Given the description of an element on the screen output the (x, y) to click on. 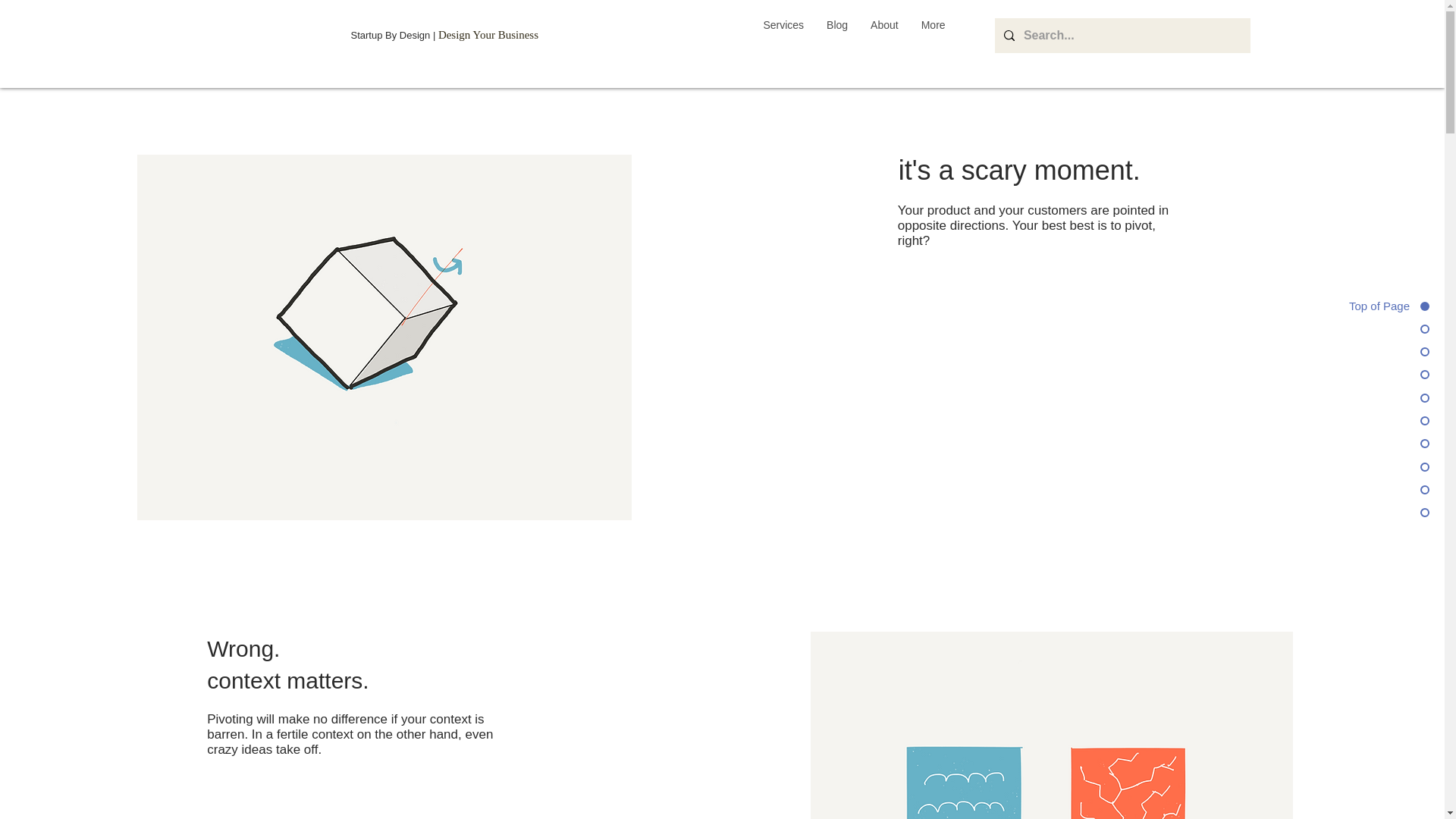
Design Your Business (488, 34)
Top of Page (1366, 305)
Services (783, 37)
Blog (837, 37)
About (884, 37)
